Given the description of an element on the screen output the (x, y) to click on. 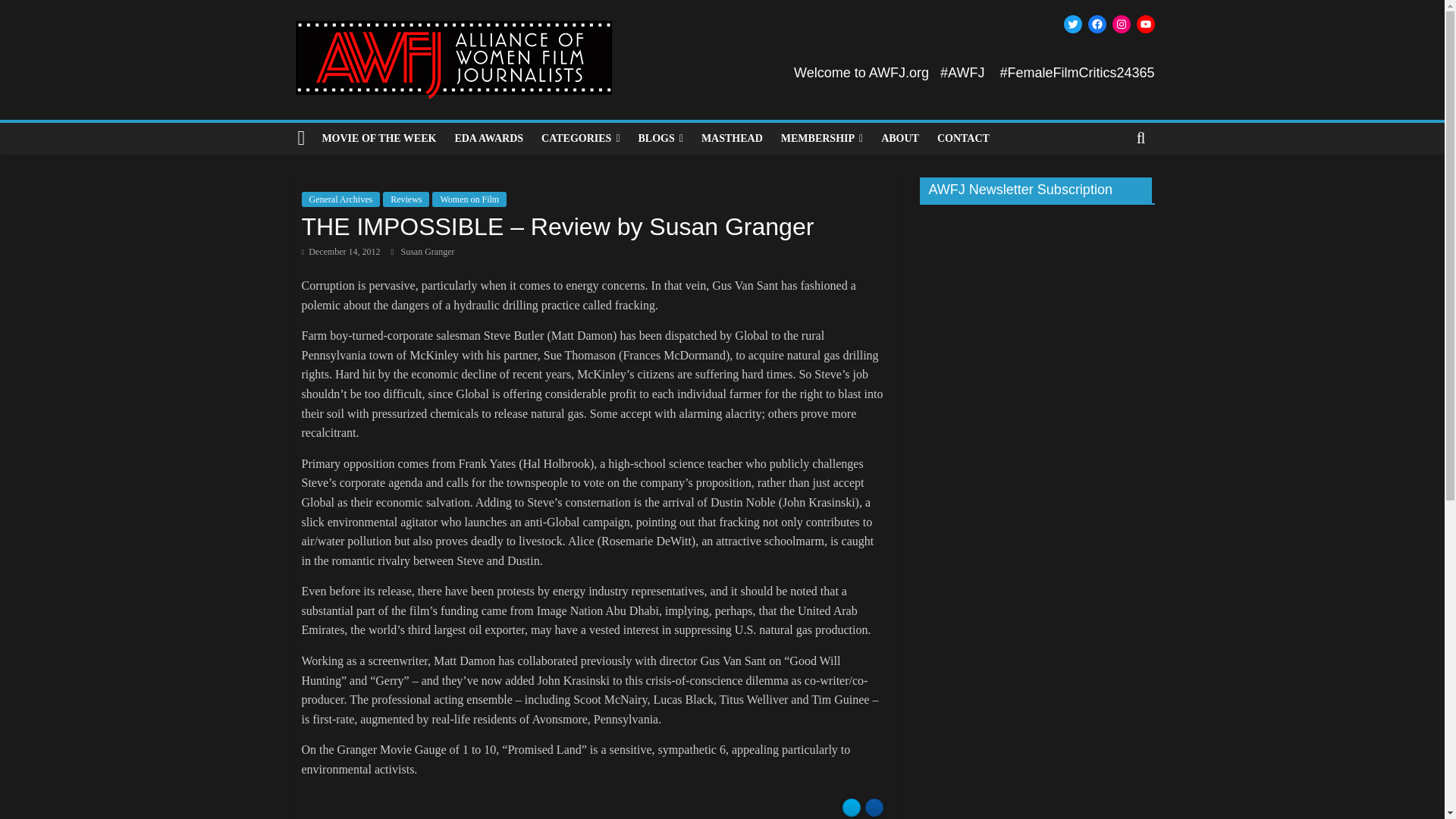
Instagram (1120, 24)
Reviews (580, 138)
EDA AWARDS (488, 138)
12:10 am (340, 251)
Facebook (1096, 24)
MEMBERSHIP (821, 138)
CATEGORIES (580, 138)
Twitter (1071, 24)
CONTACT (963, 138)
Reviews (405, 199)
